Given the description of an element on the screen output the (x, y) to click on. 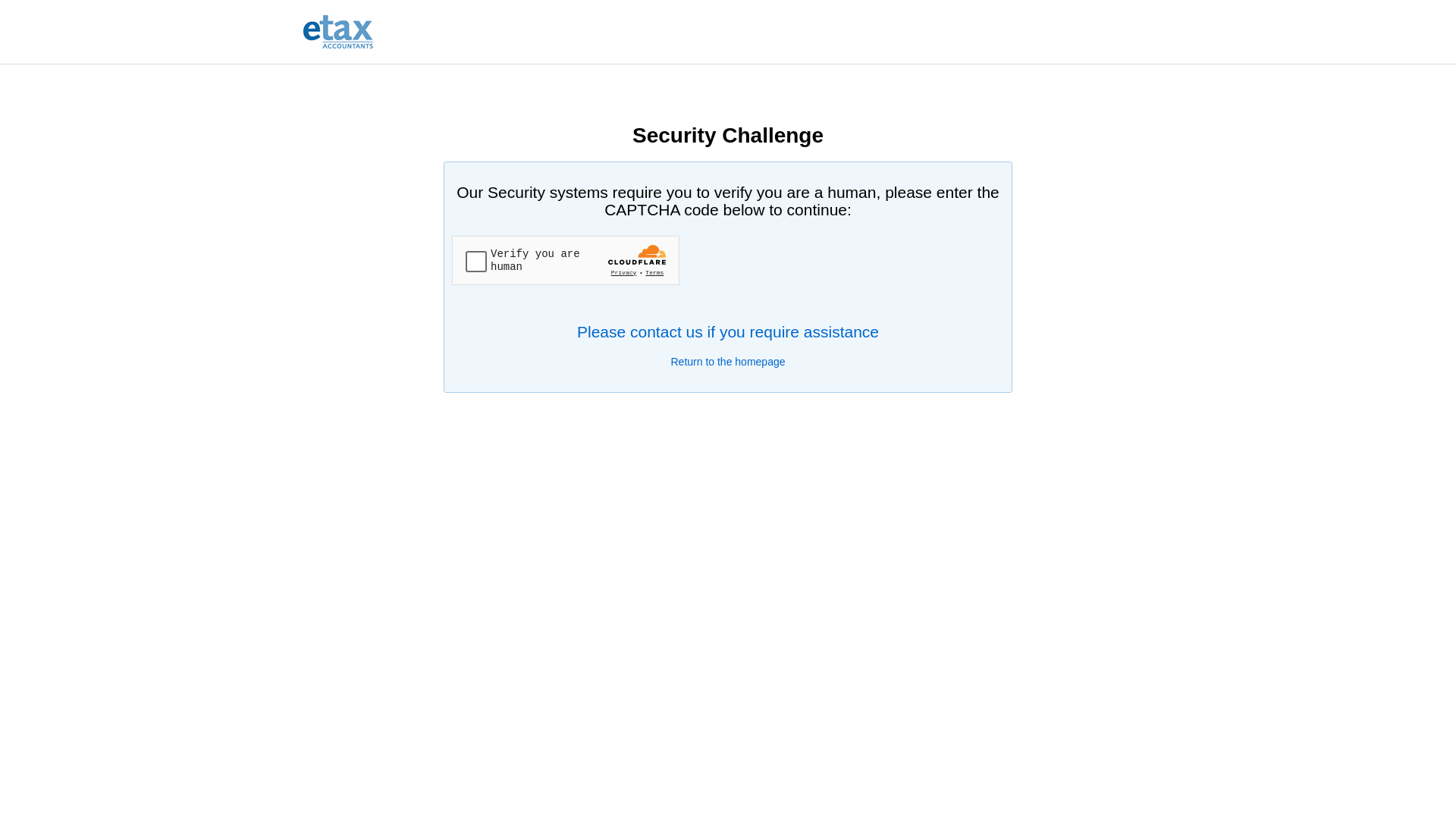
Widget containing a Cloudflare security challenge Element type: hover (565, 260)
Please contact us if you require assistance Element type: text (727, 331)
Return to the homepage Element type: text (727, 361)
